Given the description of an element on the screen output the (x, y) to click on. 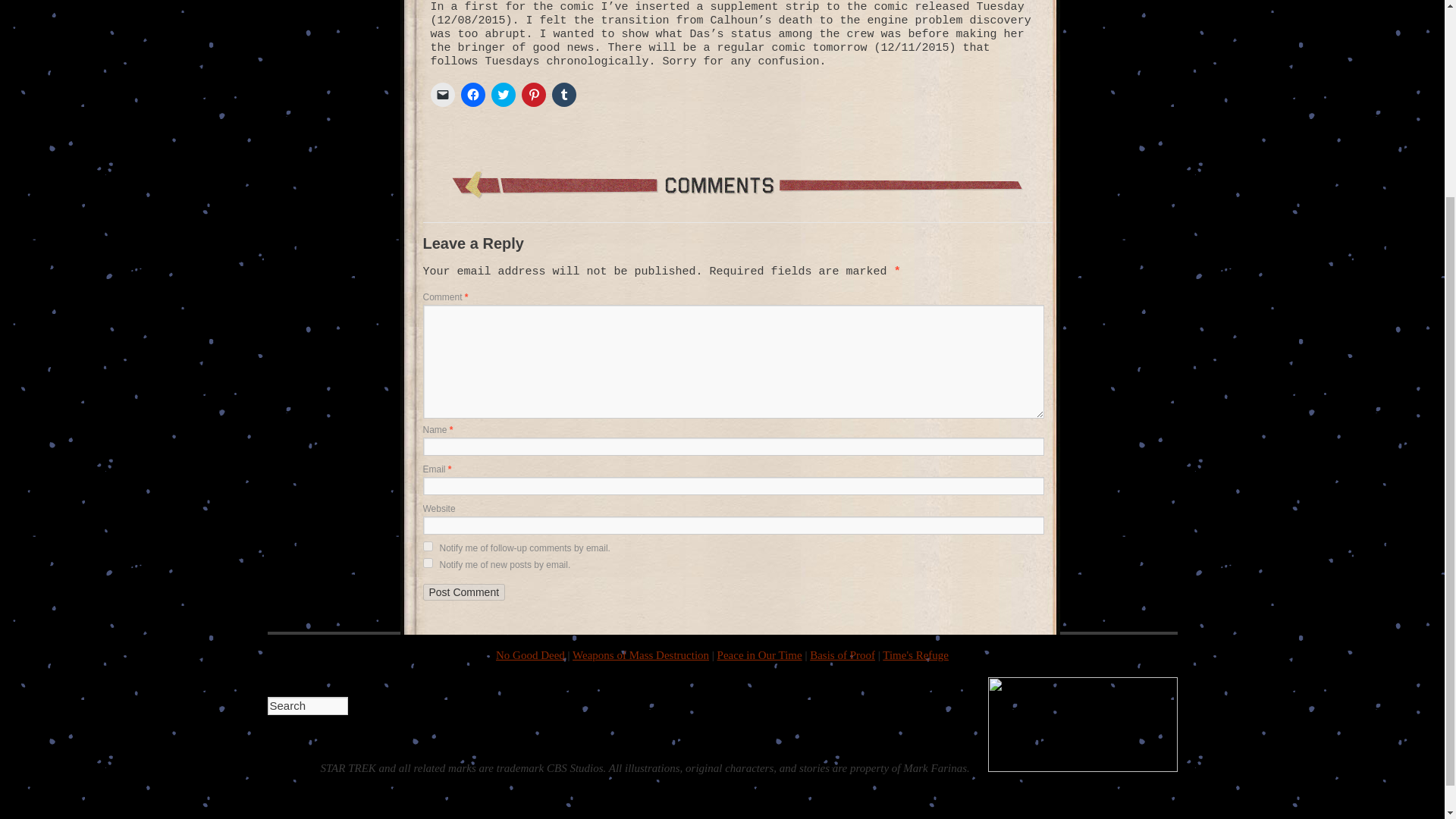
subscribe (427, 562)
Time's Refuge (915, 654)
Weapons of Mass Destruction (640, 654)
Basis of Proof (842, 654)
Search (306, 705)
Post Comment (464, 591)
Peace in Our Time (759, 654)
Click to share on Twitter (503, 94)
Click to share on Pinterest (533, 94)
Click to share on Facebook (472, 94)
